Given the description of an element on the screen output the (x, y) to click on. 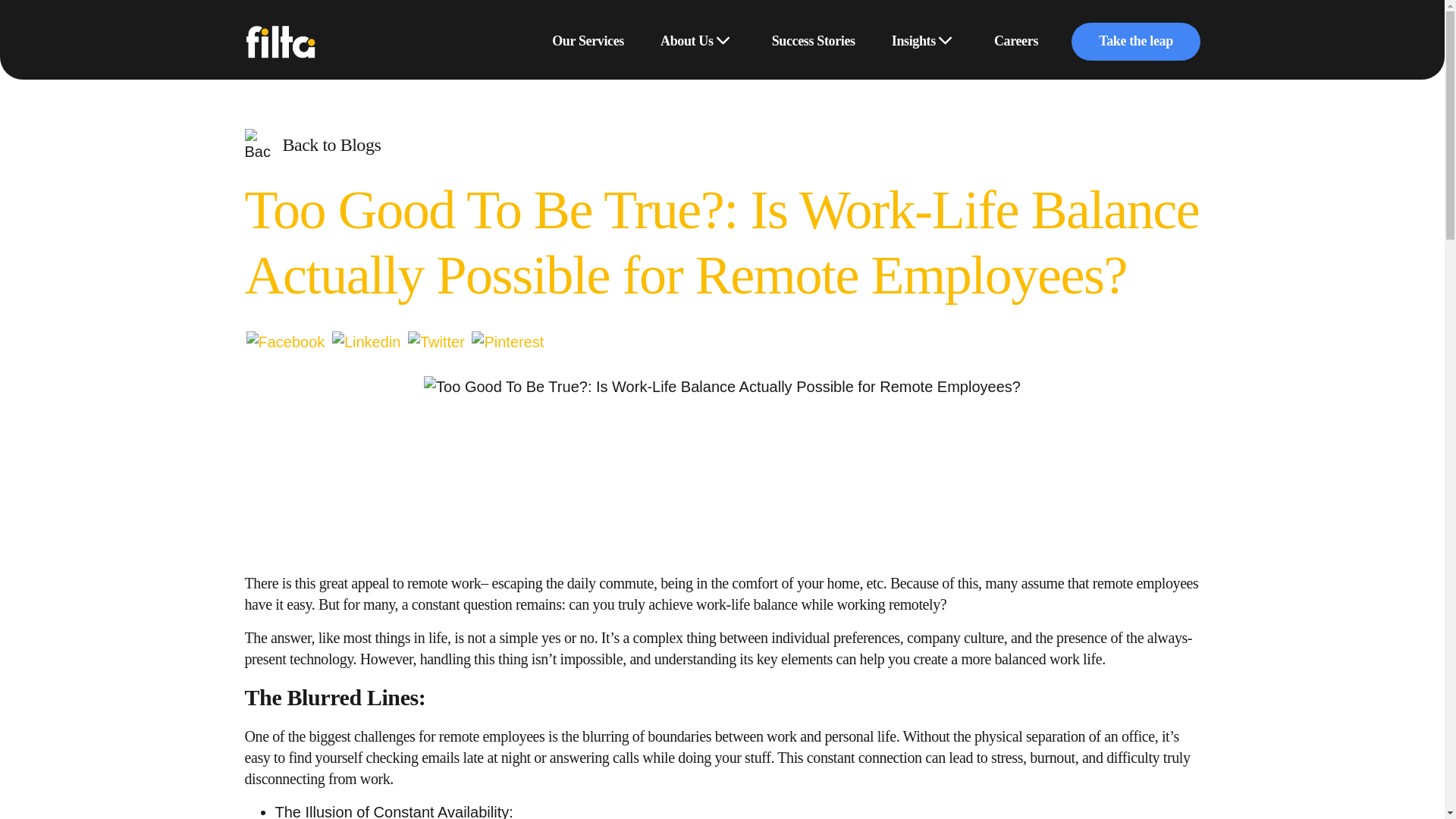
Success Stories (813, 41)
Our Services (588, 41)
Back to Blogs (312, 145)
Take the leap (1134, 41)
About Us (686, 41)
Careers (1015, 41)
Insights (913, 41)
